Given the description of an element on the screen output the (x, y) to click on. 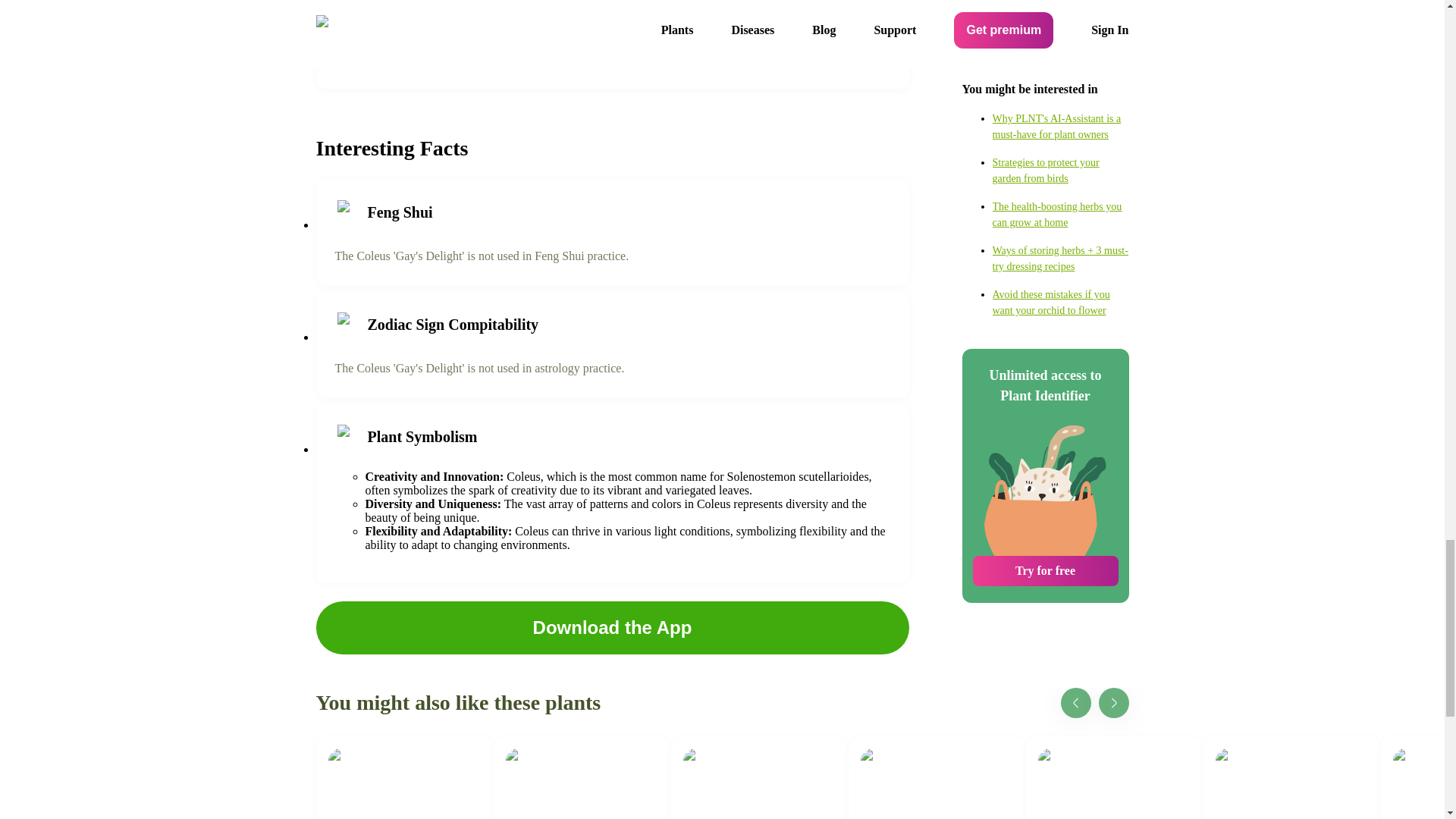
Download the App (936, 777)
Download the App (612, 627)
